Given the description of an element on the screen output the (x, y) to click on. 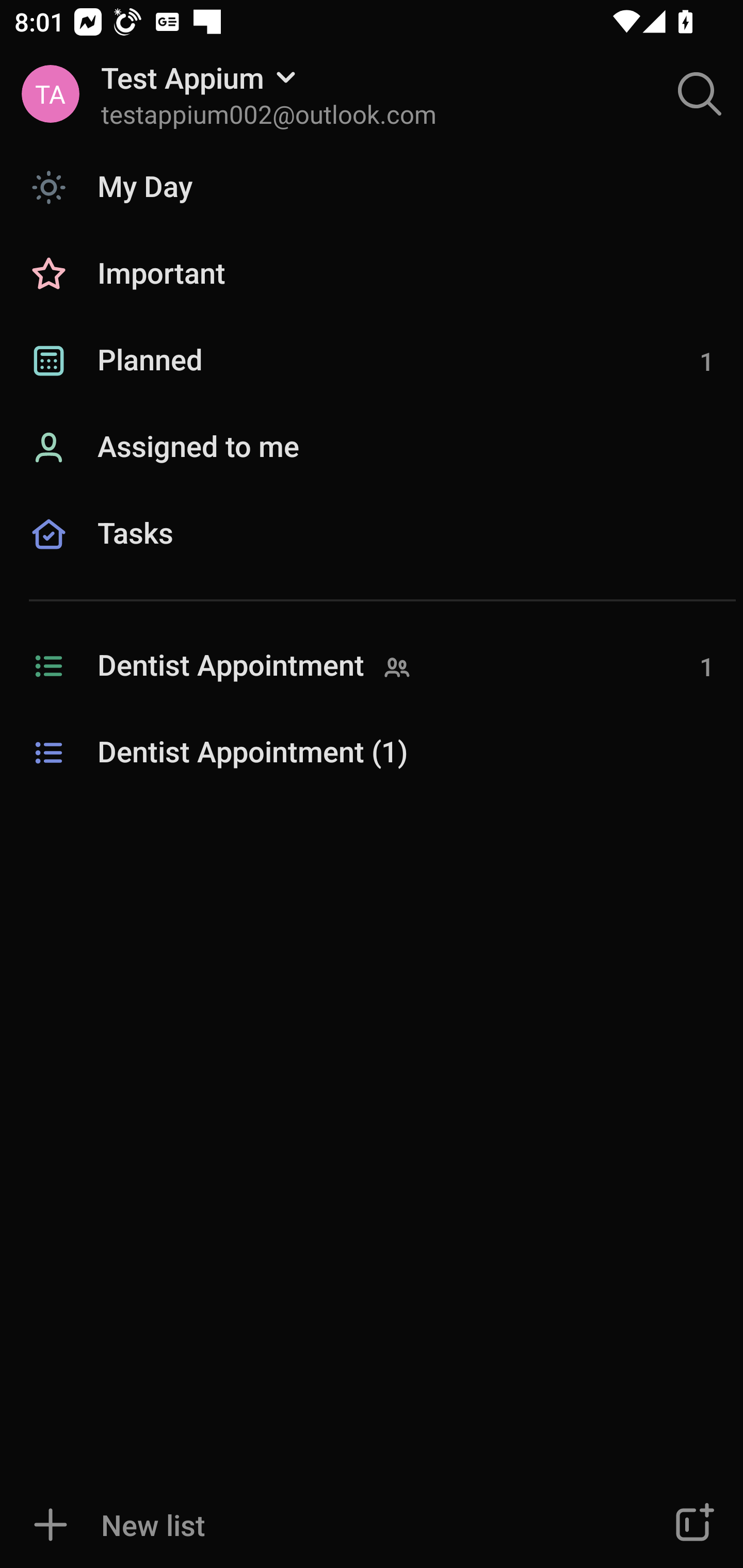
Enter search (699, 93)
My Day, 0 tasks My Day (371, 187)
Important, 0 tasks Important (371, 274)
Planned, 1 tasks Planned 1 (371, 361)
Assigned to me, 0 tasks Assigned to me (371, 447)
Tasks (371, 556)
Dentist Appointment (1) (371, 753)
New list (312, 1524)
Create group (692, 1524)
